Given the description of an element on the screen output the (x, y) to click on. 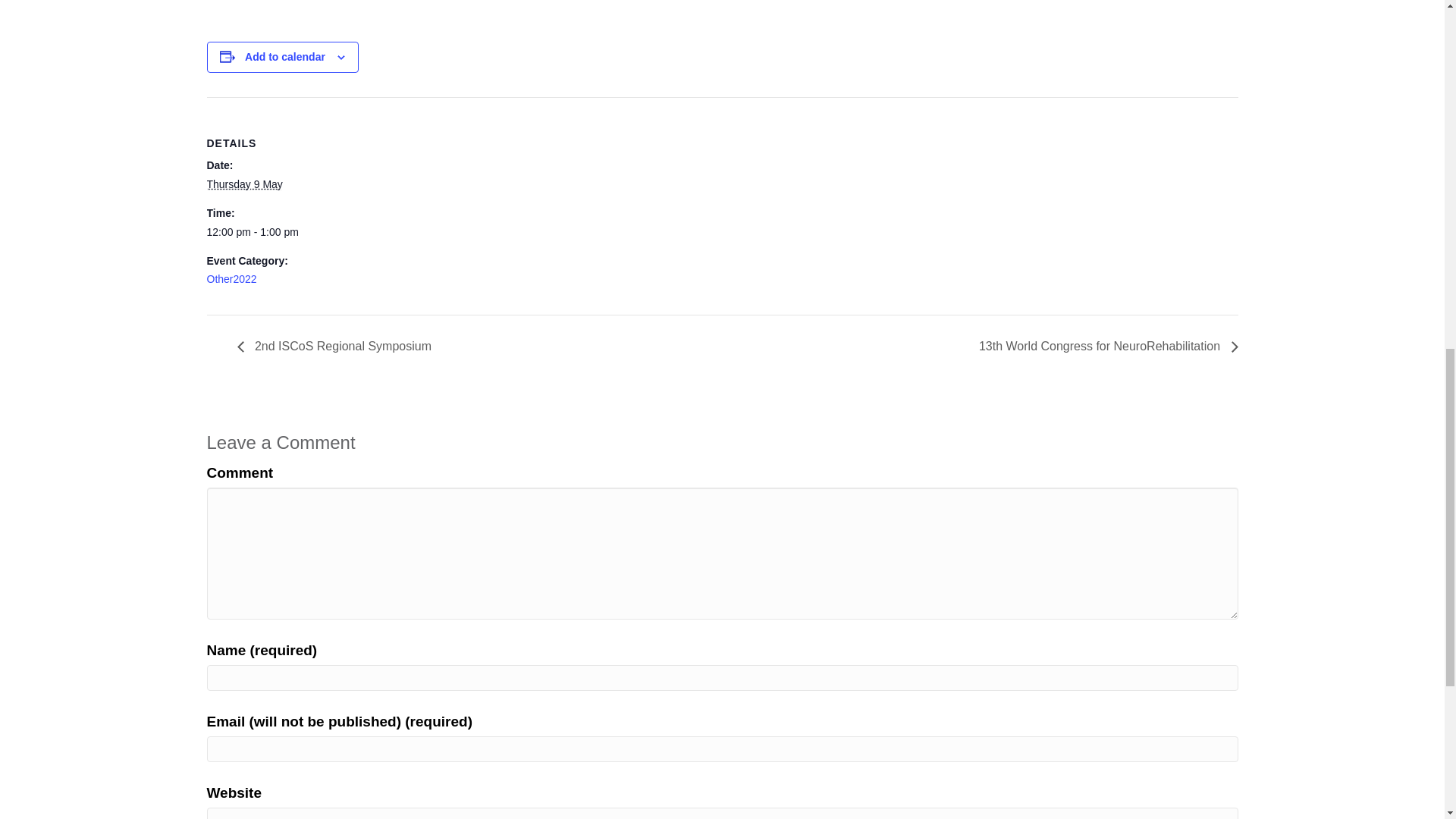
2024-05-09 (269, 232)
2024-05-09 (244, 184)
Add to calendar (284, 56)
